Given the description of an element on the screen output the (x, y) to click on. 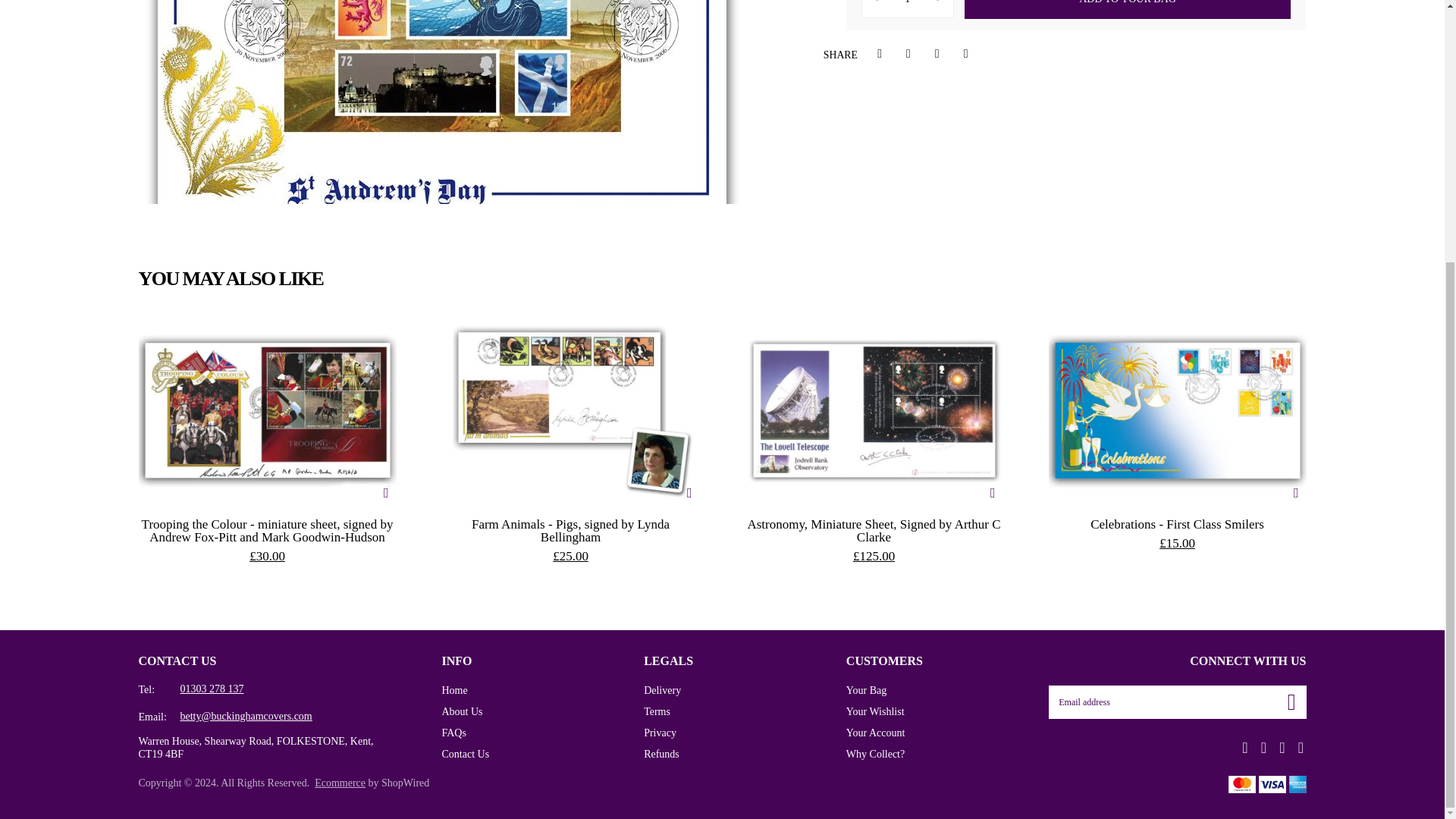
1 (907, 8)
